Given the description of an element on the screen output the (x, y) to click on. 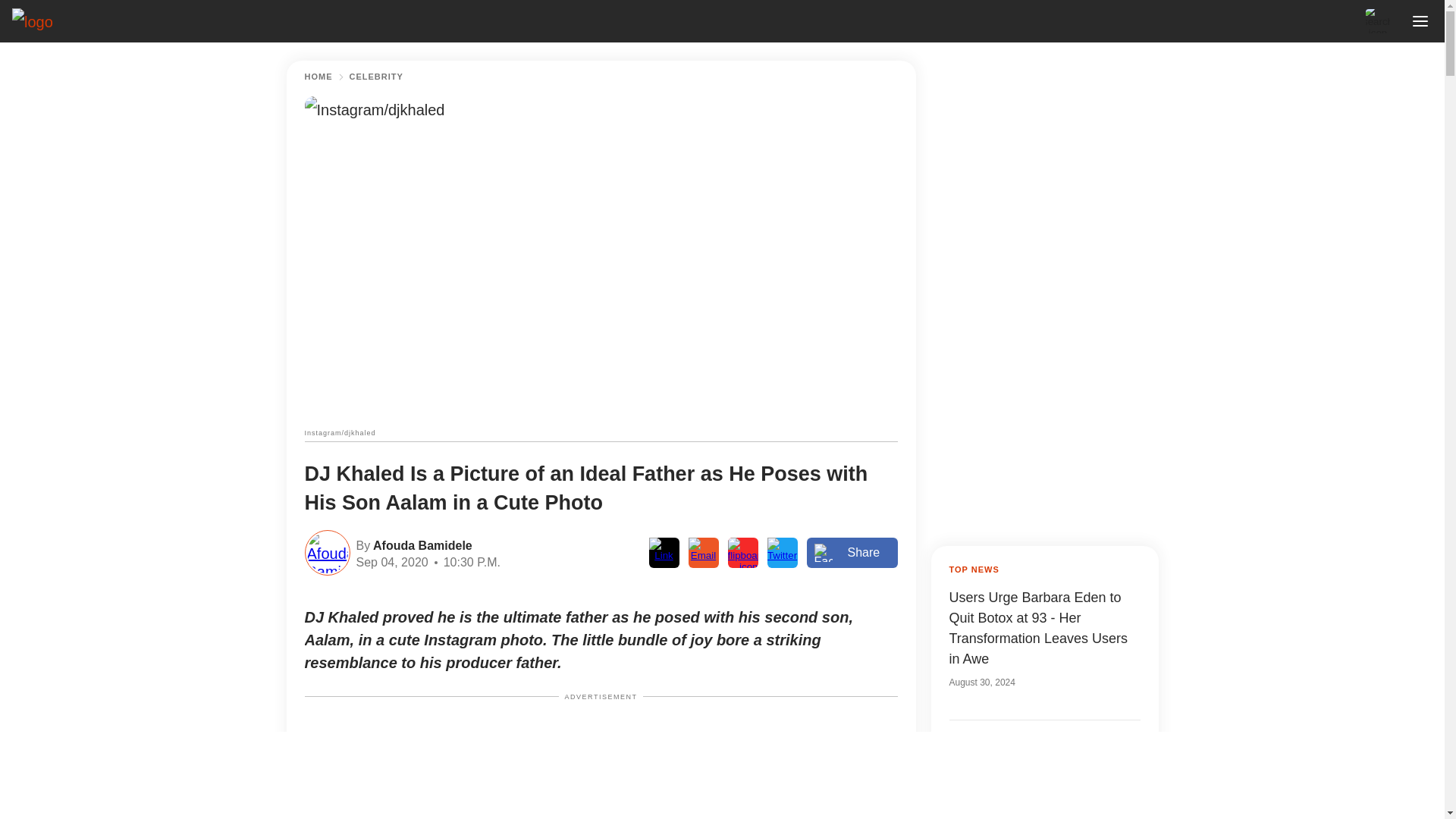
HOME (318, 76)
CELEBRITY (376, 76)
Afouda Bamidele (420, 544)
